Given the description of an element on the screen output the (x, y) to click on. 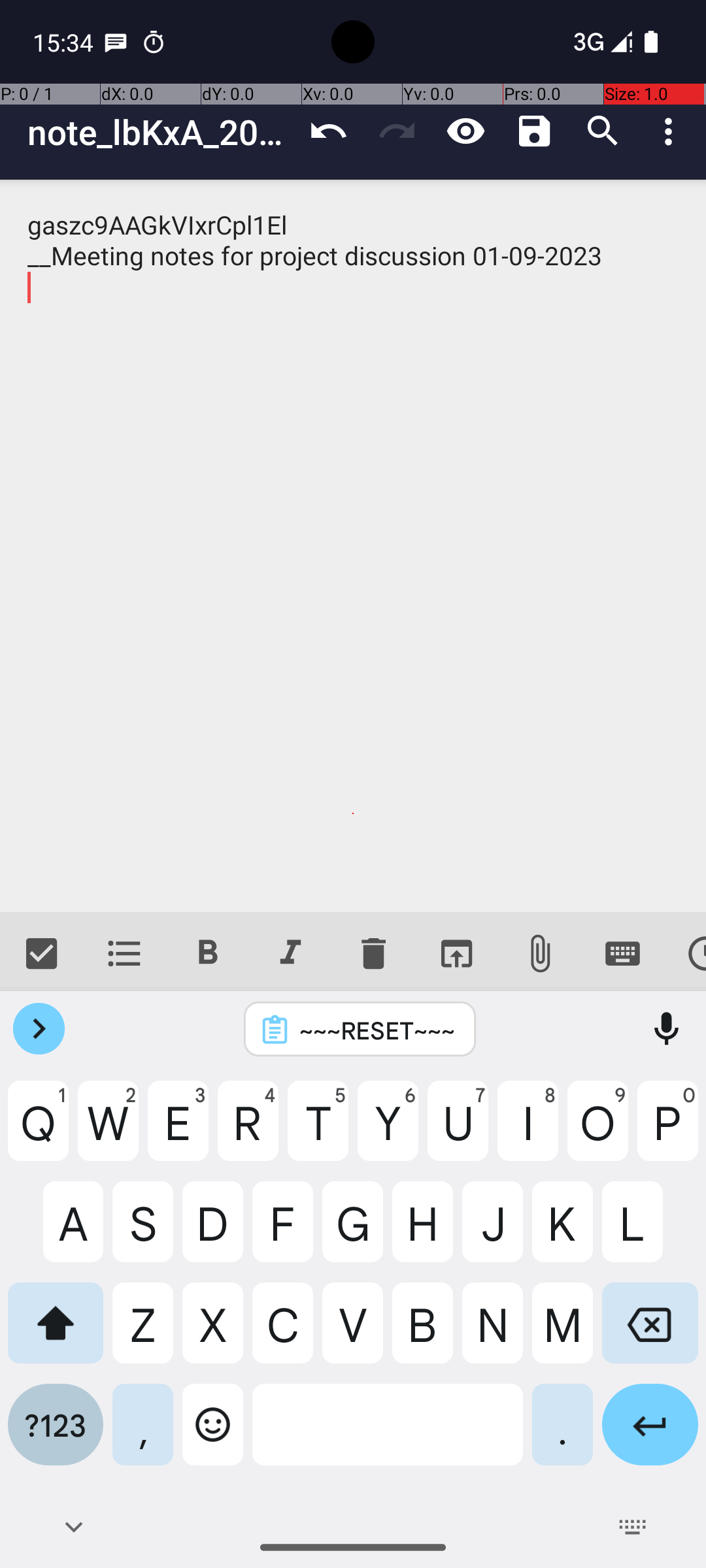
note_lbKxA_2023_01_09 Element type: android.widget.TextView (160, 131)
gaszc9AAGkVIxrCpl1El
__Meeting notes for project discussion 01-09-2023
 Element type: android.widget.EditText (353, 545)
